Given the description of an element on the screen output the (x, y) to click on. 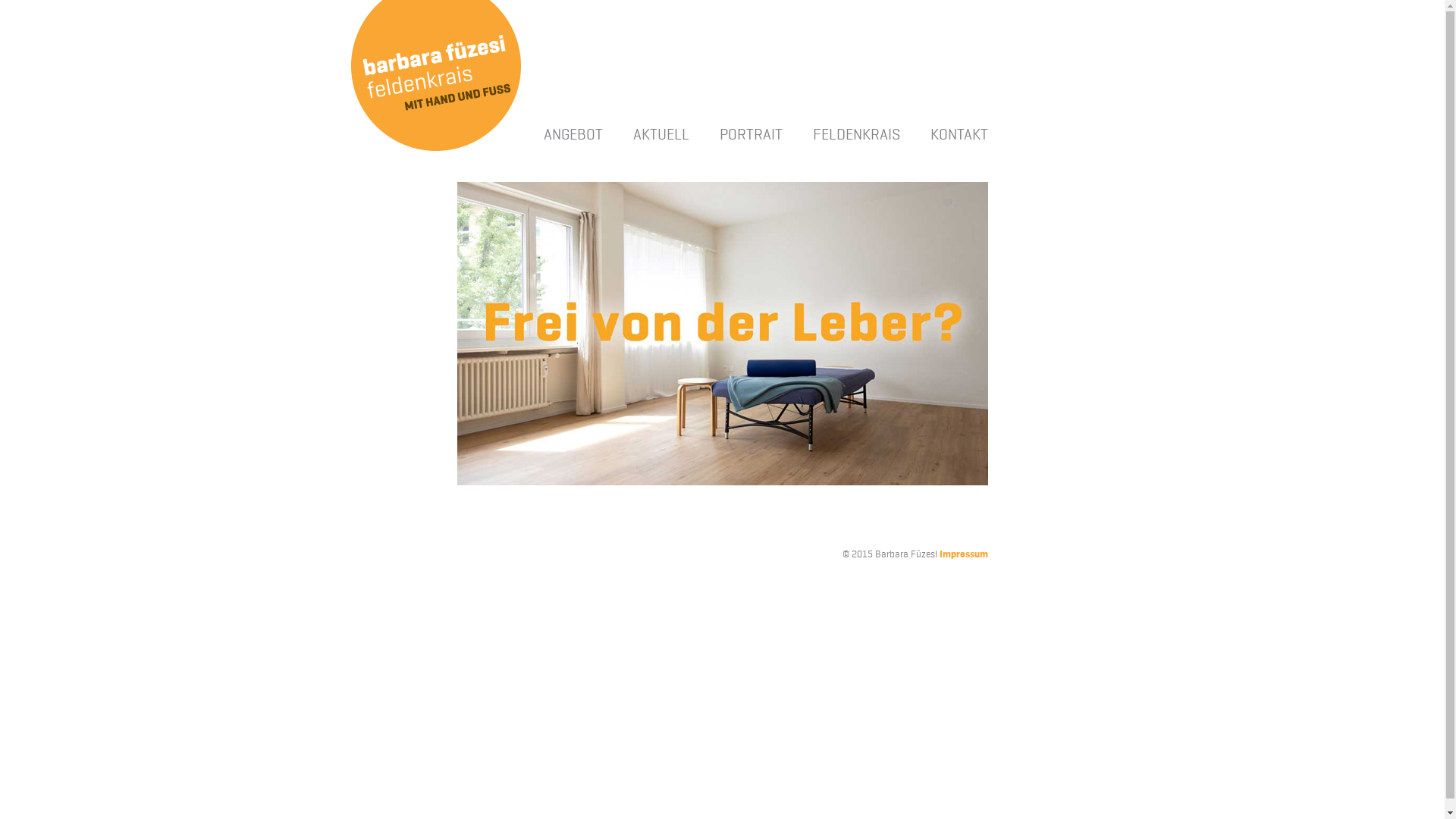
AKTUELL Element type: text (660, 134)
Impressum Element type: text (962, 554)
KONTAKT Element type: text (958, 134)
ANGEBOT Element type: text (572, 134)
PORTRAIT Element type: text (749, 134)
FELDENKRAIS Element type: text (856, 134)
